Given the description of an element on the screen output the (x, y) to click on. 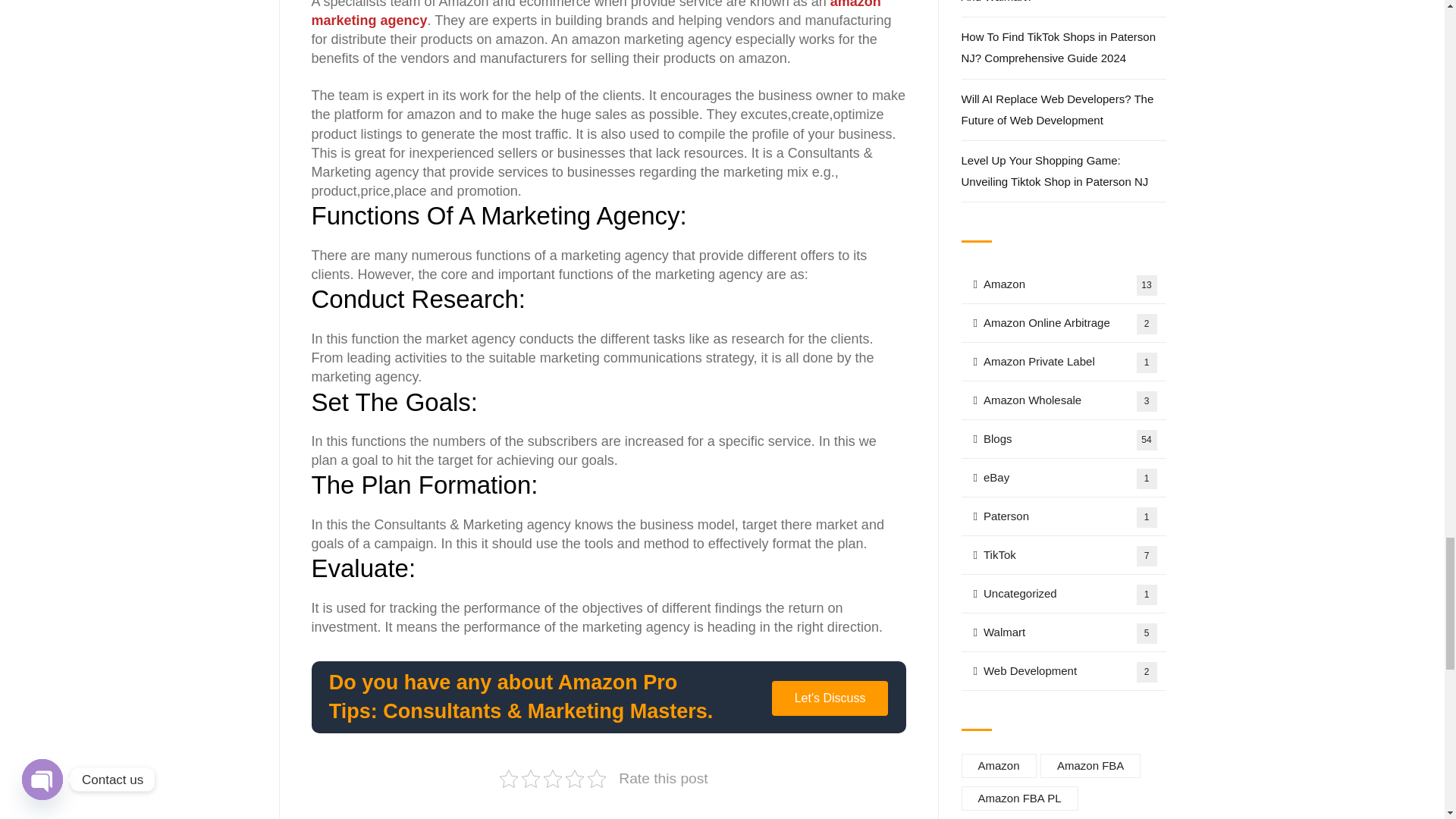
Let's Discuss (829, 697)
amazon marketing agency (595, 13)
